Given the description of an element on the screen output the (x, y) to click on. 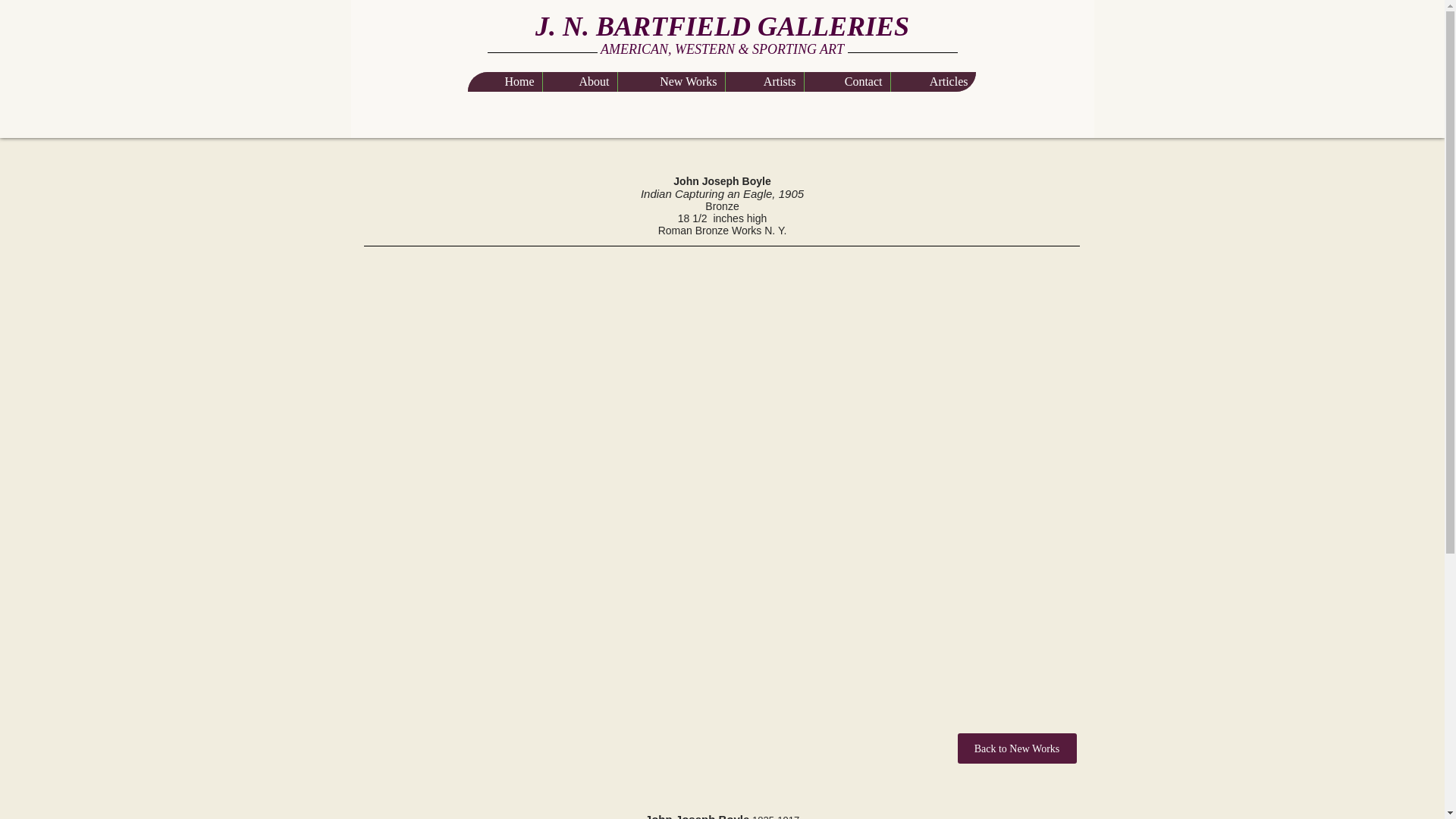
Home (504, 81)
Contact (846, 81)
Artists (764, 81)
Back to New Works (1015, 748)
About (578, 81)
New Works (671, 81)
Articles (932, 81)
